Given the description of an element on the screen output the (x, y) to click on. 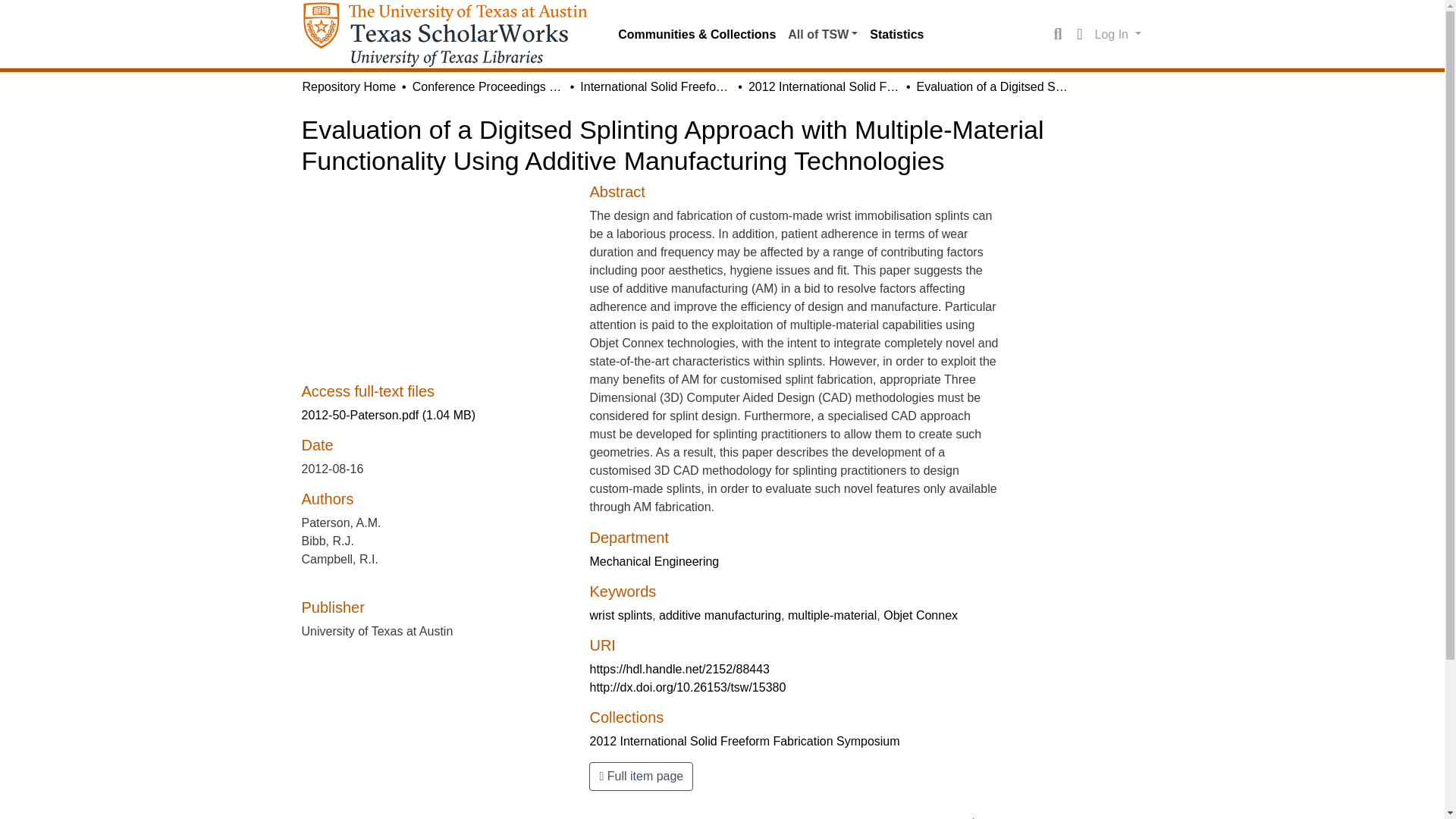
All of TSW (822, 34)
Repository Home (348, 86)
multiple-material (831, 615)
2012 International Solid Freeform Fabrication Symposium (823, 86)
Objet Connex (920, 615)
Full item page (641, 776)
Search (1057, 34)
Conference Proceedings and Journals (488, 86)
International Solid Freeform Fabrication Symposium (655, 86)
Statistics (896, 34)
wrist splints (620, 615)
Statistics (896, 34)
Mechanical Engineering (654, 561)
additive manufacturing (719, 615)
2012 International Solid Freeform Fabrication Symposium (744, 740)
